Given the description of an element on the screen output the (x, y) to click on. 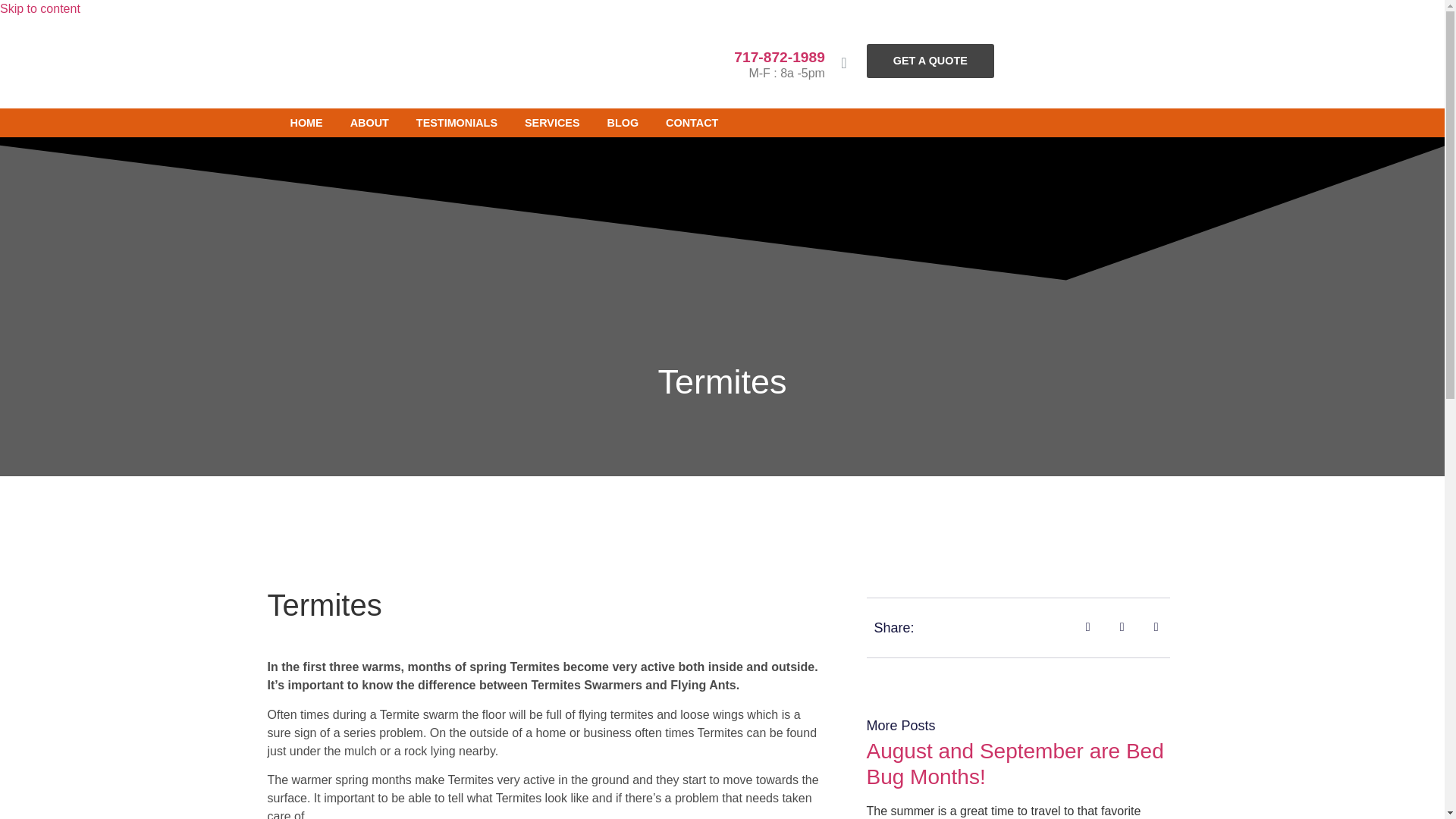
Skip to content (40, 8)
August and September are Bed Bug Months! (1014, 763)
HOME (305, 122)
CONTACT (691, 122)
GET A QUOTE (930, 61)
BLOG (623, 122)
717-872-1989 (779, 57)
SERVICES (551, 122)
ABOUT (369, 122)
TESTIMONIALS (456, 122)
